Given the description of an element on the screen output the (x, y) to click on. 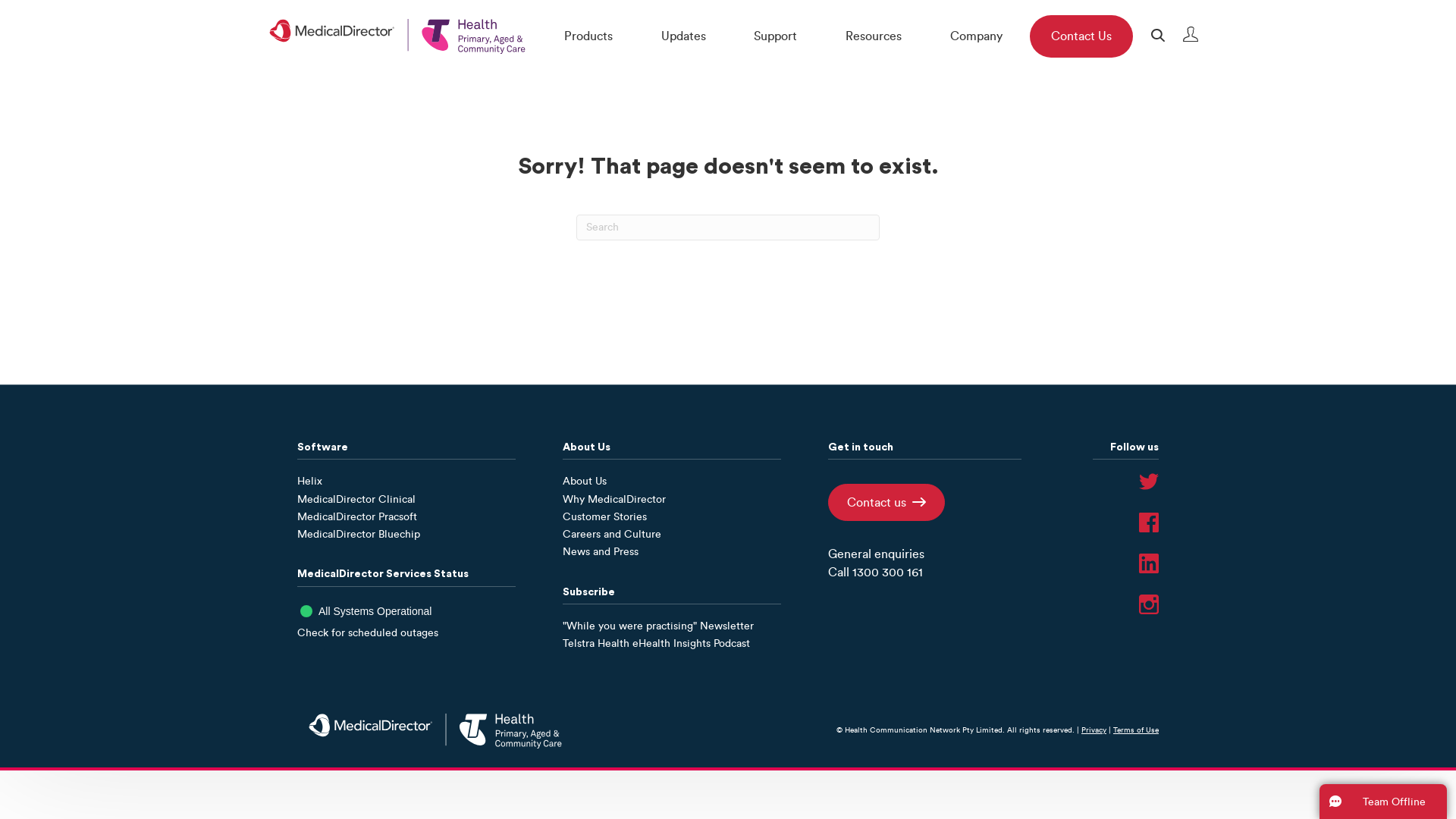
News and Press Element type: text (600, 551)
MedicalDirector Clinical Element type: text (356, 498)
"While you were practising" Newsletter Element type: text (657, 625)
Type and press Enter to search. Element type: hover (727, 227)
Privacy Element type: text (1093, 729)
Contact us Element type: text (886, 501)
MedicalDirector Bluechip Element type: text (358, 533)
About Us Element type: text (584, 480)
Resources Element type: text (873, 35)
Company Element type: text (975, 35)
Telstra Health eHealth Insights Podcast Element type: text (655, 643)
Home Element type: hover (396, 36)
Call 1300 300 161 Element type: text (875, 571)
Careers and Culture Element type: text (611, 533)
Account Login Element type: hover (1184, 37)
Check for scheduled outages Element type: text (367, 632)
Support Element type: text (775, 35)
Follow us on Twitter Element type: text (1148, 481)
Helix Element type: text (309, 480)
Updates Element type: text (683, 35)
MedicalDirector Pracsoft Element type: text (357, 516)
Why MedicalDirector Element type: text (613, 498)
Contact Us Element type: text (1080, 35)
Connect on Linkedin Element type: text (1148, 604)
Customer Stories Element type: text (604, 516)
Connect on Linkedin Element type: text (1148, 563)
Follow us on Facebook Element type: text (1148, 522)
Products Element type: text (587, 35)
Terms of Use Element type: text (1135, 729)
